Given the description of an element on the screen output the (x, y) to click on. 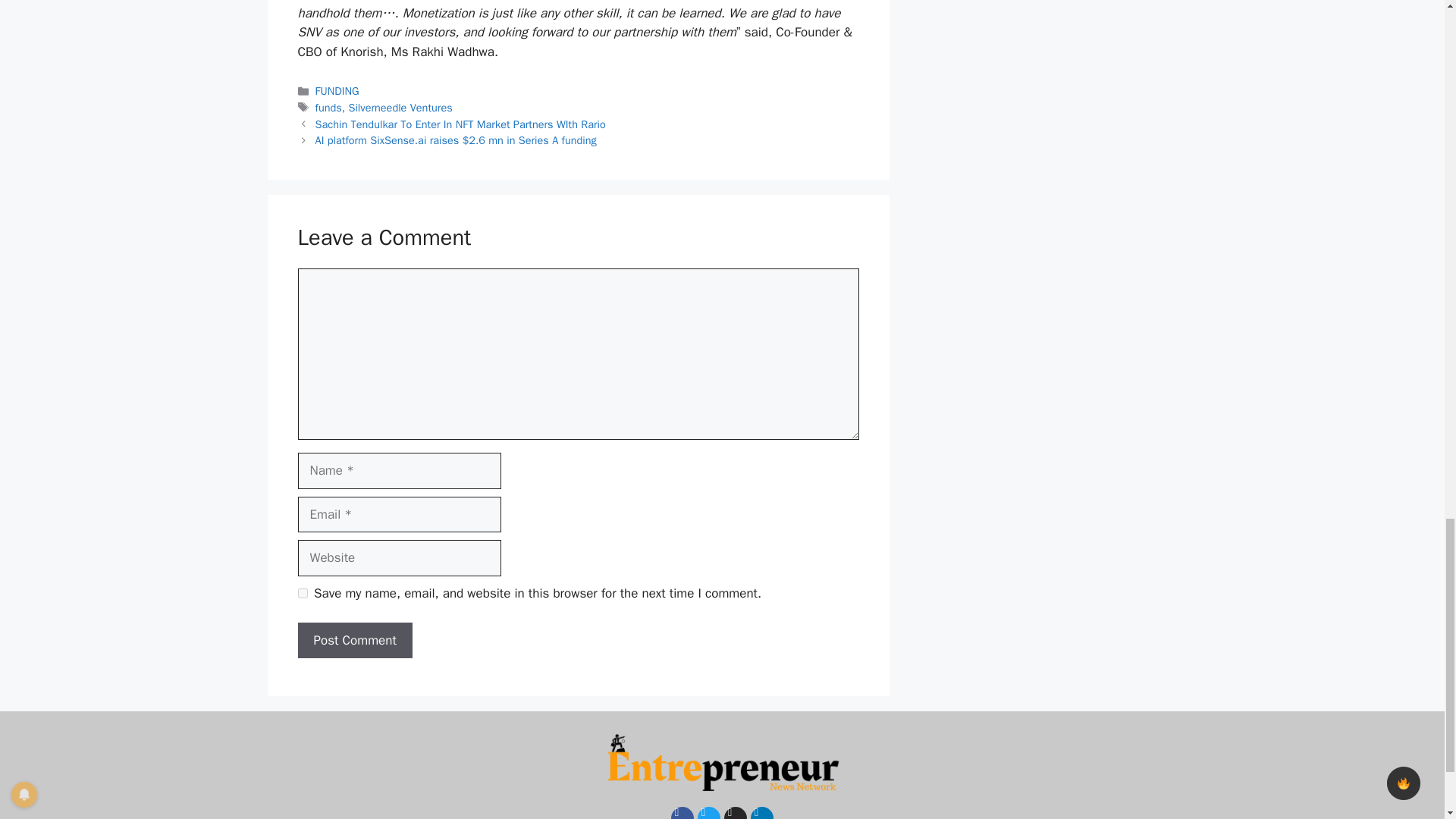
Post Comment (354, 640)
yes (302, 593)
